Given the description of an element on the screen output the (x, y) to click on. 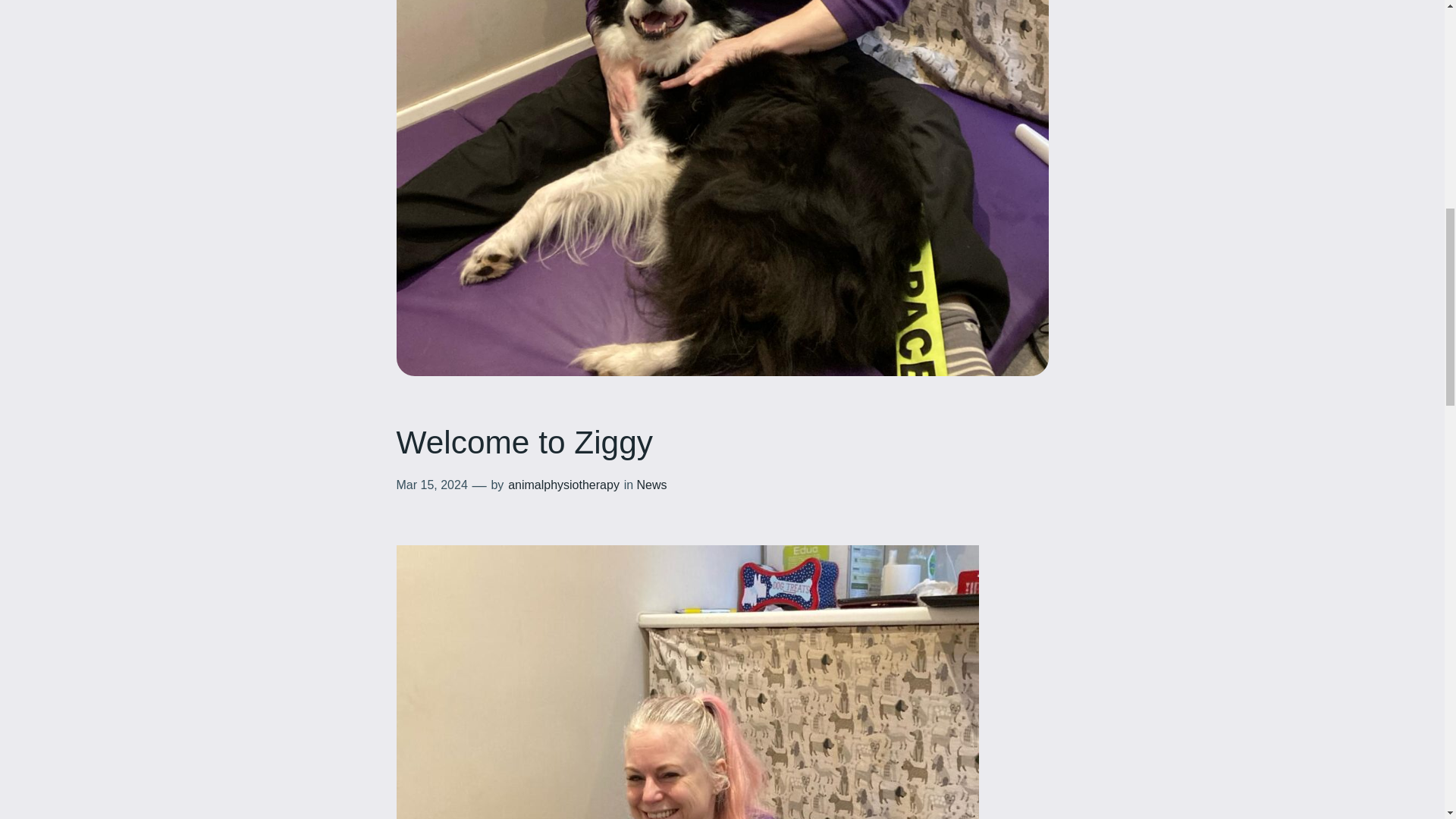
animalphysiotherapy (564, 484)
News (651, 484)
Mar 15, 2024 (431, 484)
